Given the description of an element on the screen output the (x, y) to click on. 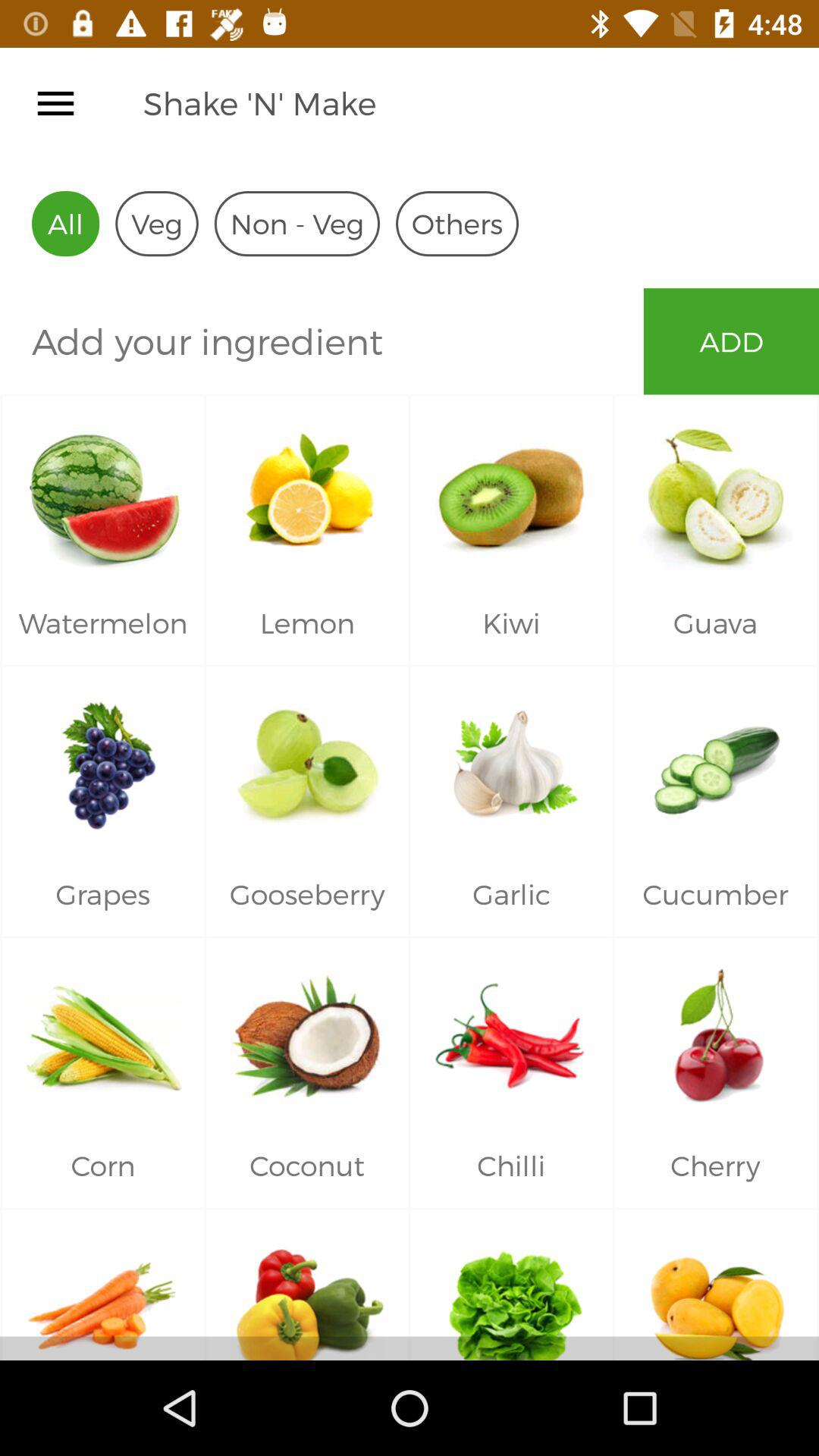
choose item to the left of the add icon (321, 341)
